Given the description of an element on the screen output the (x, y) to click on. 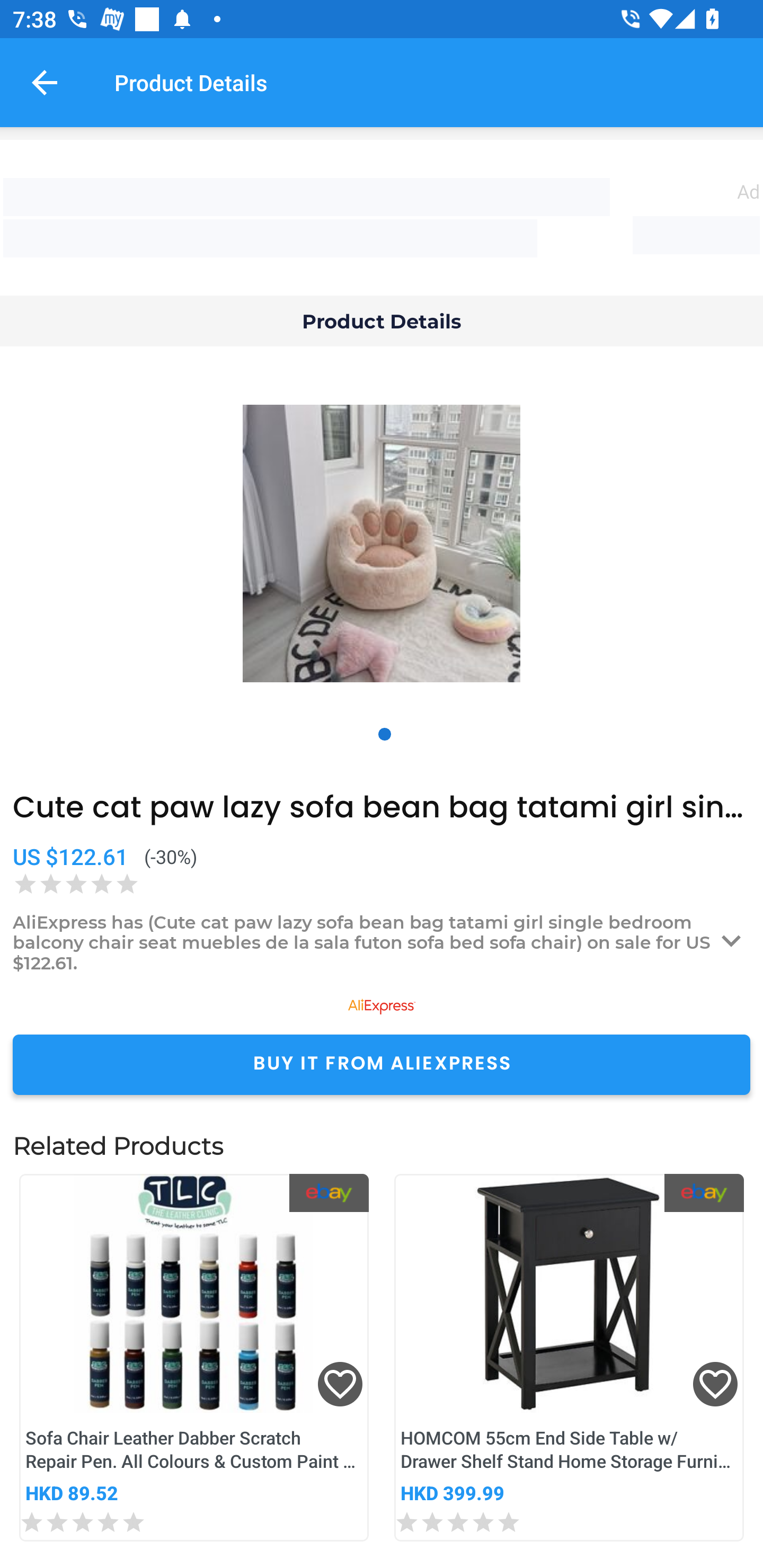
Navigate up (44, 82)
BUY IT FROM ALIEXPRESS (381, 1064)
